Given the description of an element on the screen output the (x, y) to click on. 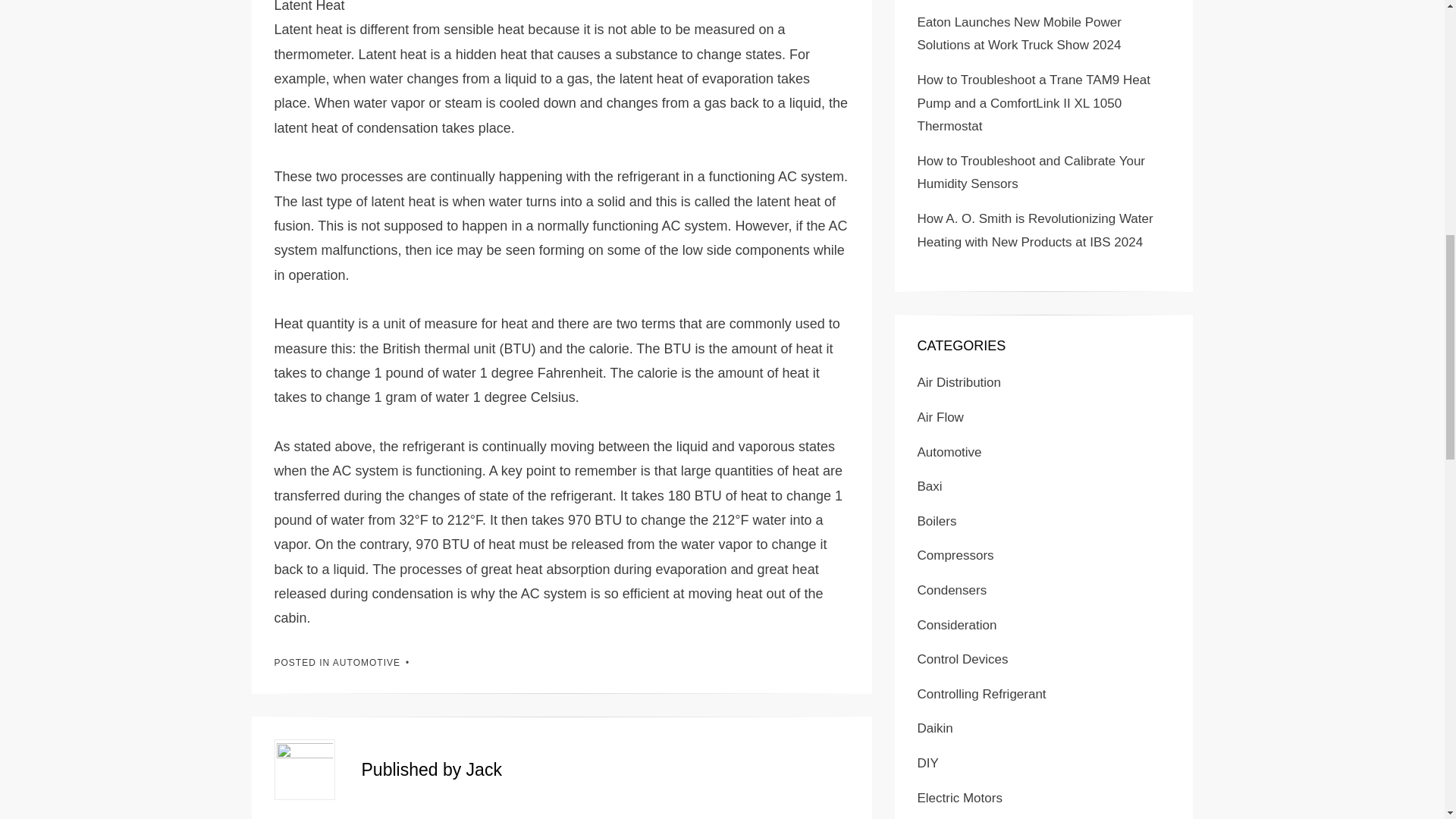
Electric Motors (960, 798)
Air Flow (940, 417)
AUTOMOTIVE (366, 662)
How to Troubleshoot and Calibrate Your Humidity Sensors (1031, 172)
Air Distribution (959, 382)
Baxi (929, 486)
Condensers (952, 590)
Automotive (949, 452)
Consideration (957, 625)
Compressors (955, 554)
DIY (928, 762)
Control Devices (963, 658)
